Given the description of an element on the screen output the (x, y) to click on. 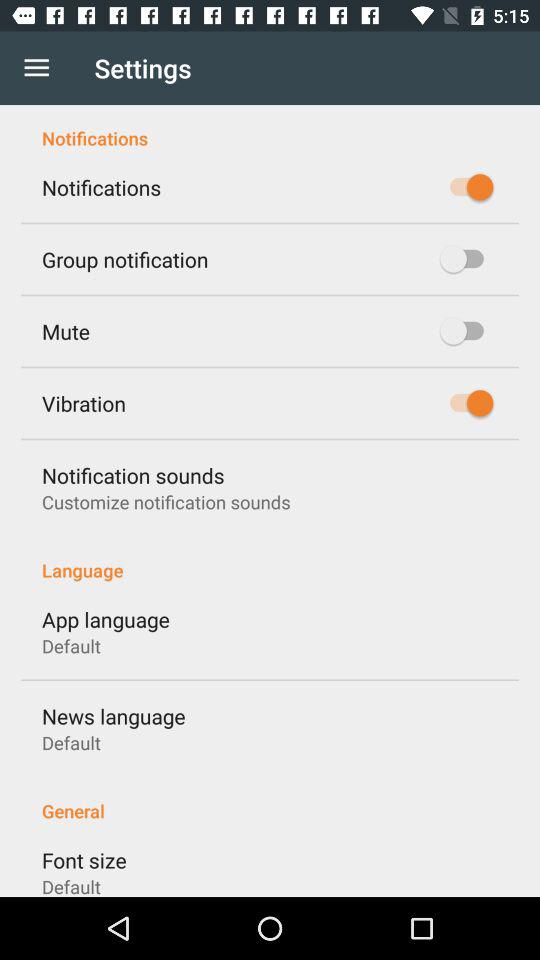
scroll until general item (270, 800)
